Given the description of an element on the screen output the (x, y) to click on. 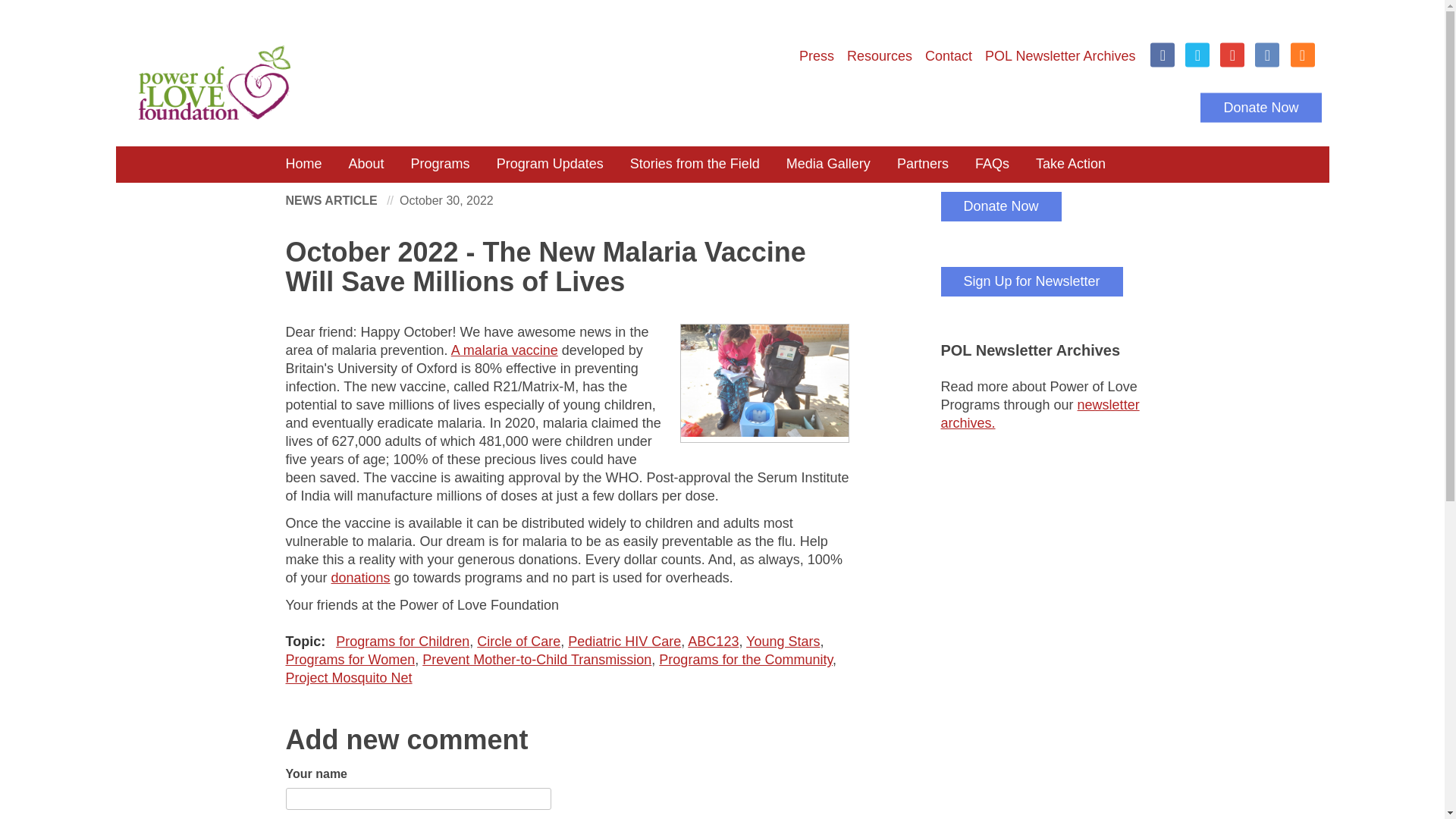
Facebook (1162, 54)
Programs for Women (349, 659)
Program Updates (549, 164)
Programs for the Community (745, 659)
A malaria vaccine (504, 350)
Home (582, 82)
RSS (1302, 54)
Programs for Children (402, 641)
Partners (922, 164)
Circle of Care (518, 641)
